Given the description of an element on the screen output the (x, y) to click on. 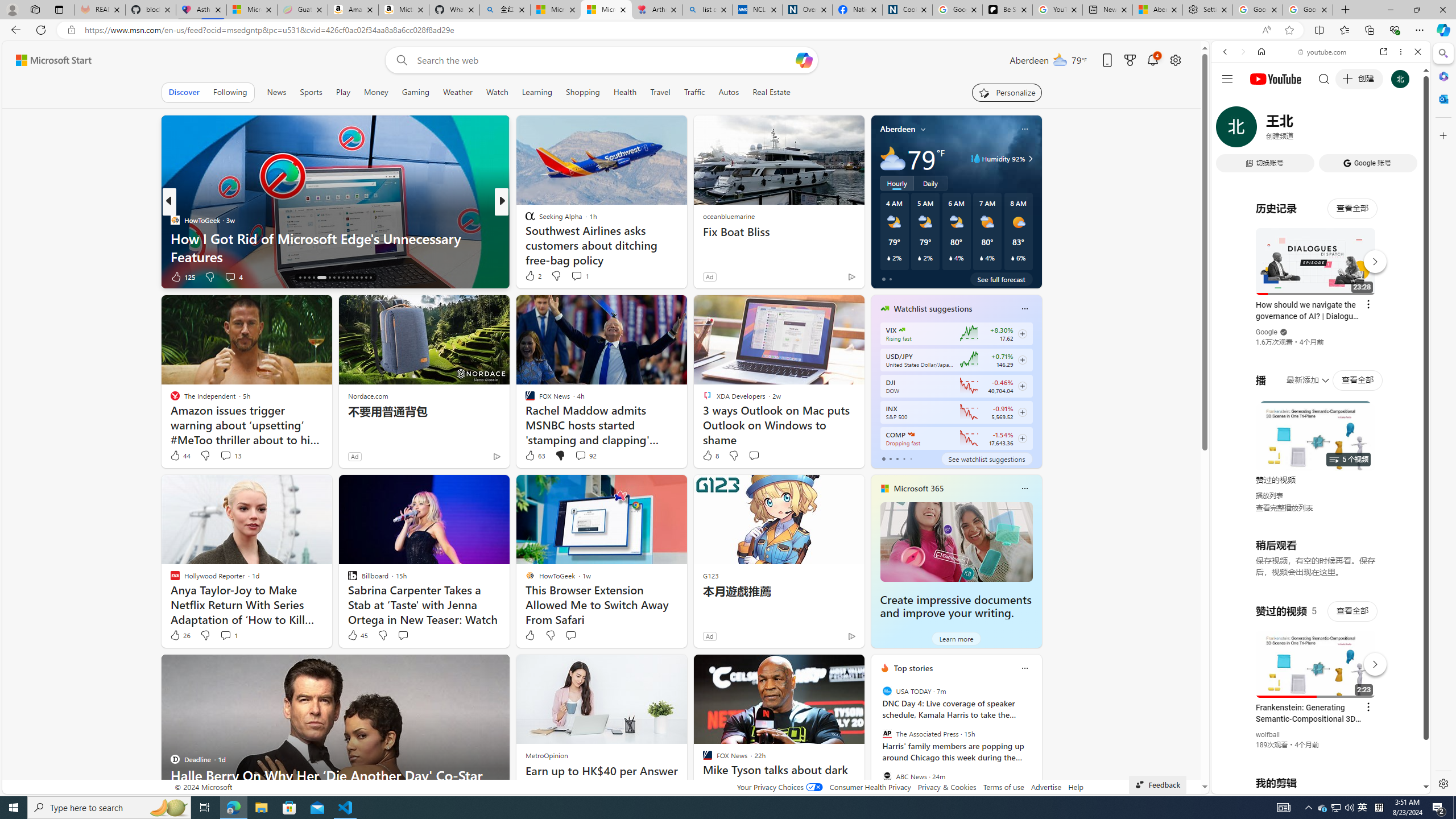
wolfball (1268, 734)
The Associated Press (886, 733)
AutomationID: tab-27 (356, 277)
